Given the description of an element on the screen output the (x, y) to click on. 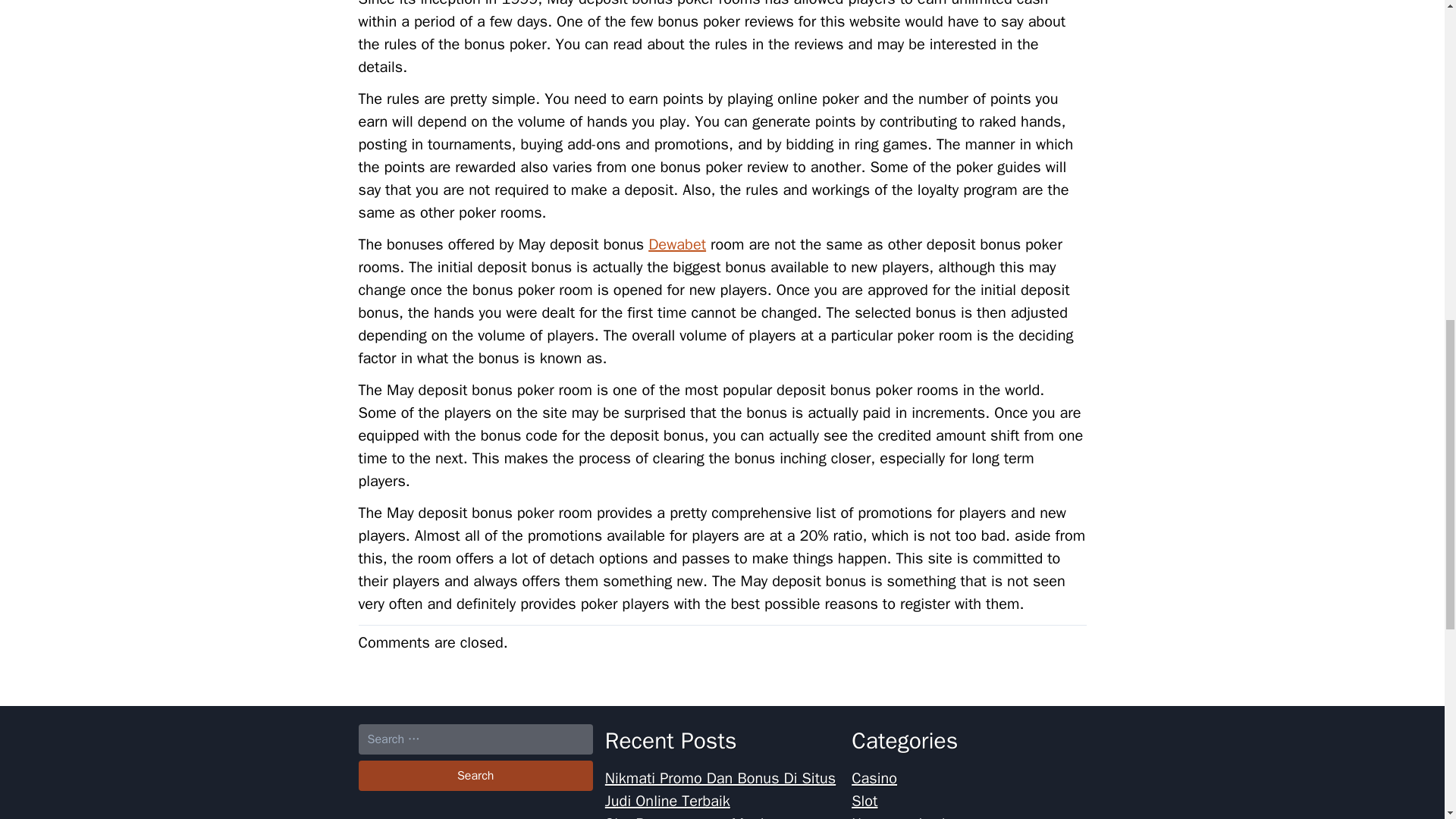
Nikmati Promo Dan Bonus Di Situs Judi Online Terbaik (720, 789)
Search (475, 775)
Search (475, 775)
Casino (873, 778)
Slot (864, 800)
Search (475, 775)
Uncategorized (897, 816)
Dewabet (676, 244)
